Given the description of an element on the screen output the (x, y) to click on. 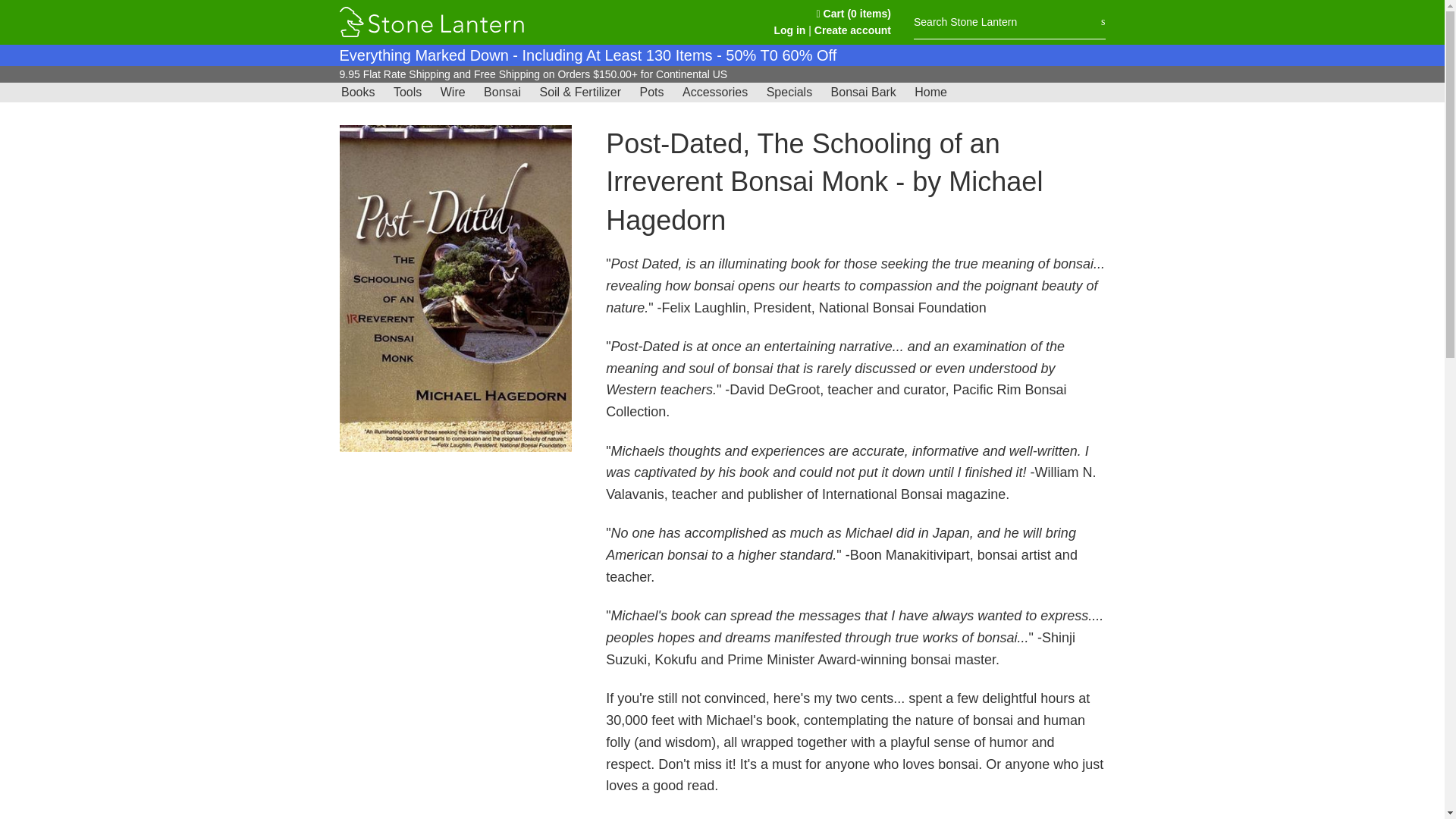
Accessories (715, 92)
Bonsai Bark (864, 92)
Books (357, 92)
Tools (407, 92)
Bonsai (502, 92)
Home (931, 92)
Search (1102, 21)
Pots (651, 92)
Wire (452, 92)
Specials (788, 92)
Log in (789, 30)
Create account (852, 30)
